Given the description of an element on the screen output the (x, y) to click on. 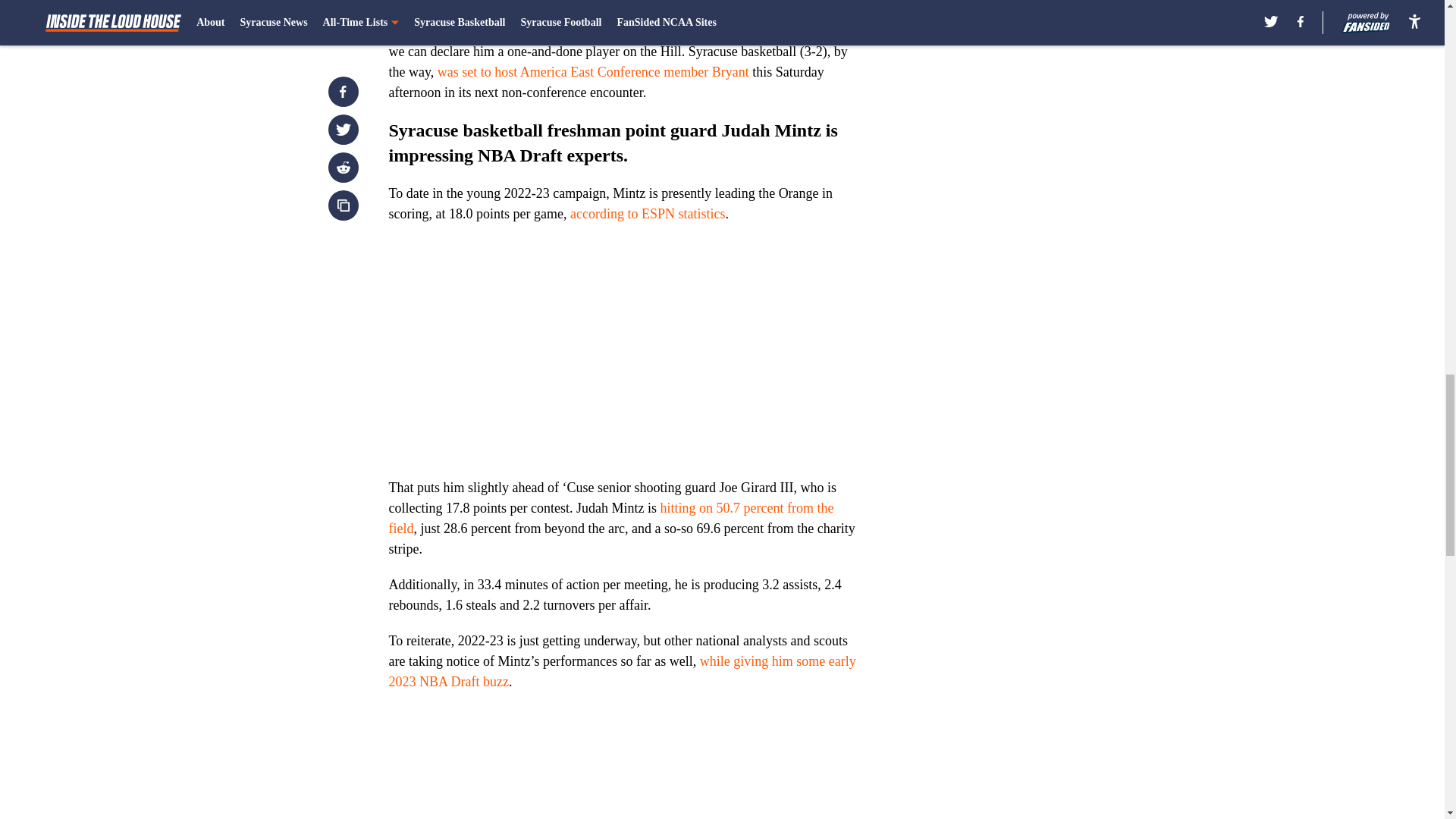
while giving him some early 2023 NBA Draft buzz (622, 671)
hitting on 50.7 percent from the field (610, 518)
according to ESPN statistics (647, 213)
was set to host America East Conference member Bryant (593, 71)
